Given the description of an element on the screen output the (x, y) to click on. 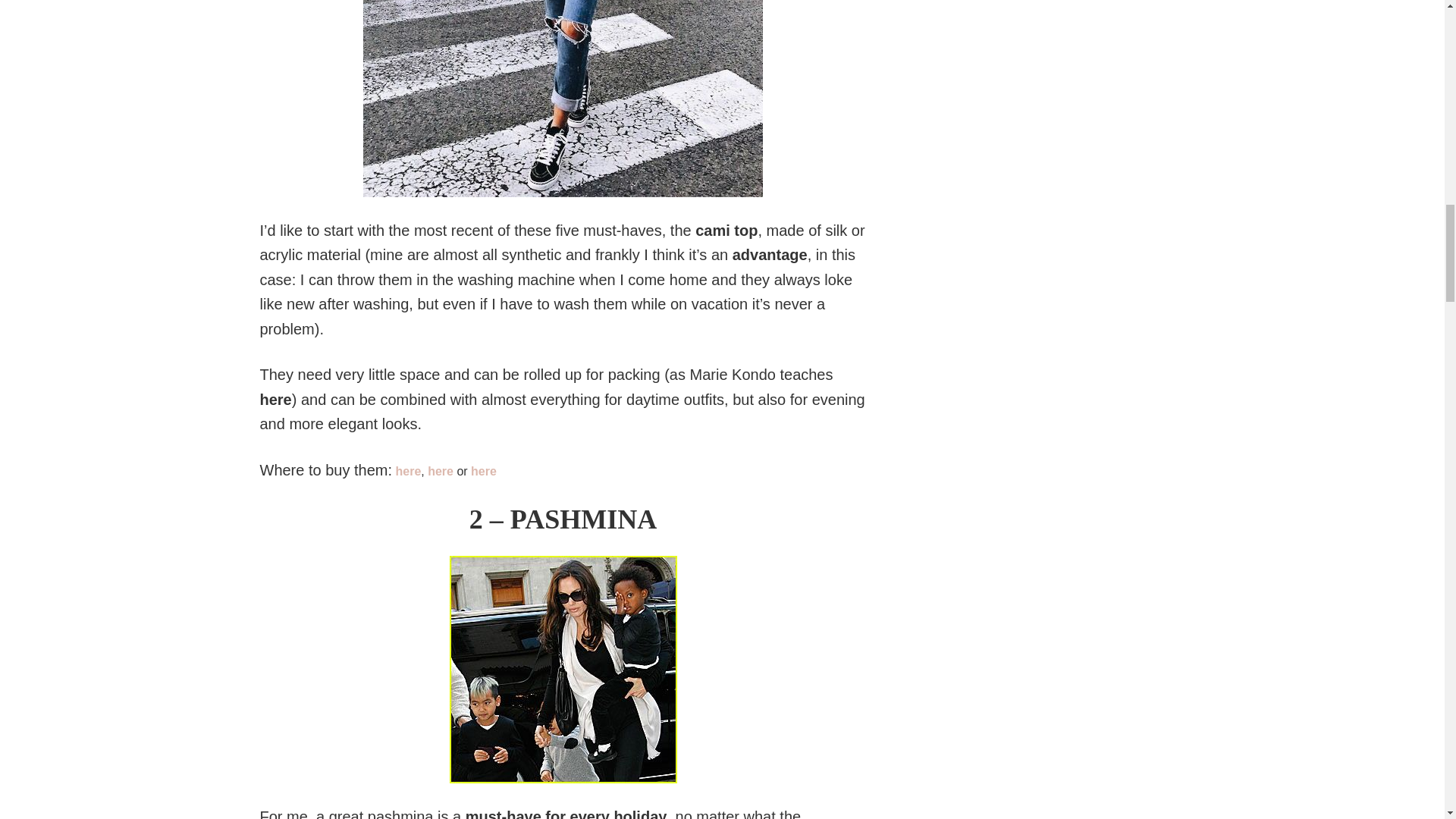
here (407, 471)
here  (442, 471)
here (483, 471)
